Given the description of an element on the screen output the (x, y) to click on. 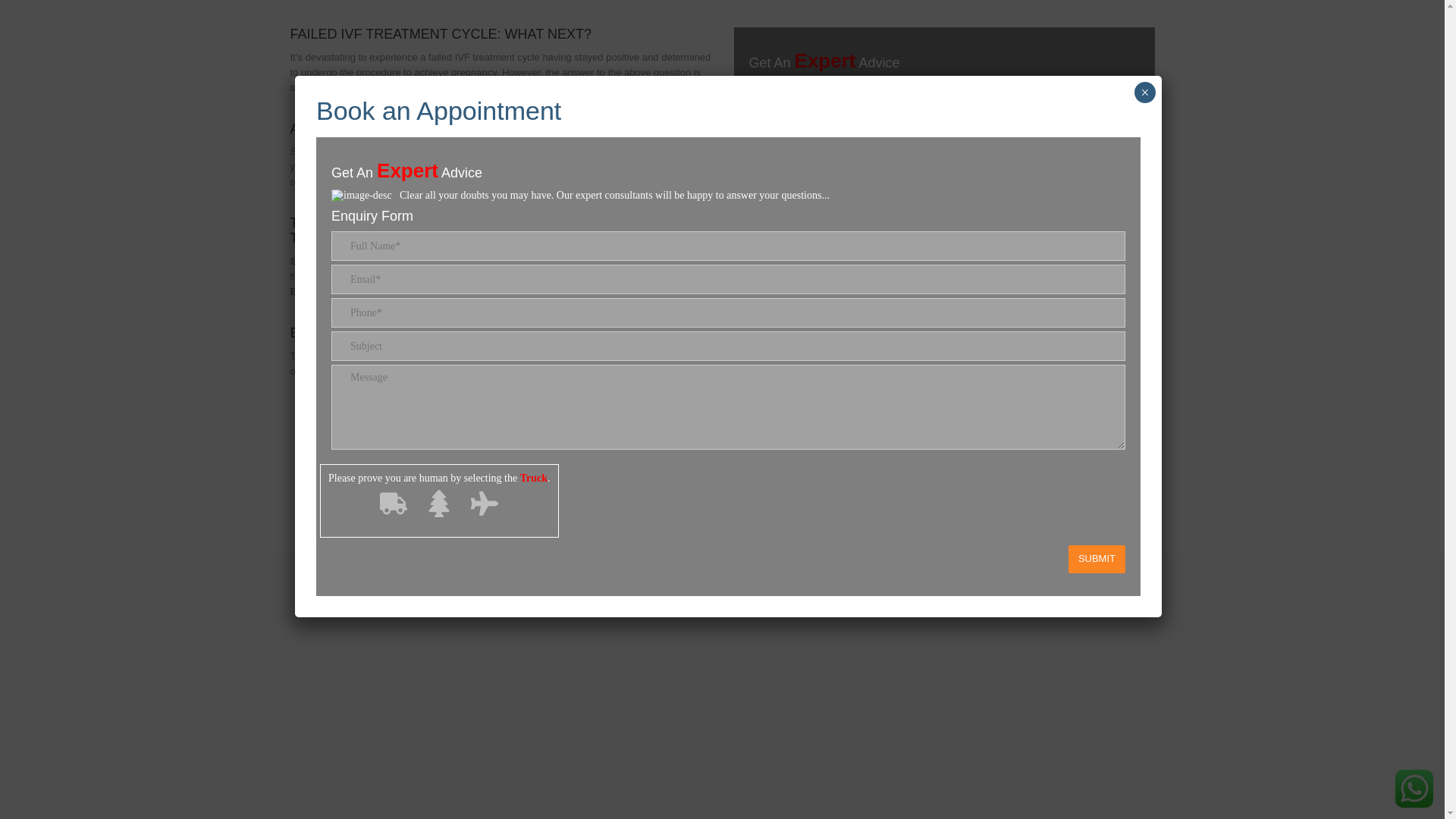
SUBMIT (1096, 195)
